Given the description of an element on the screen output the (x, y) to click on. 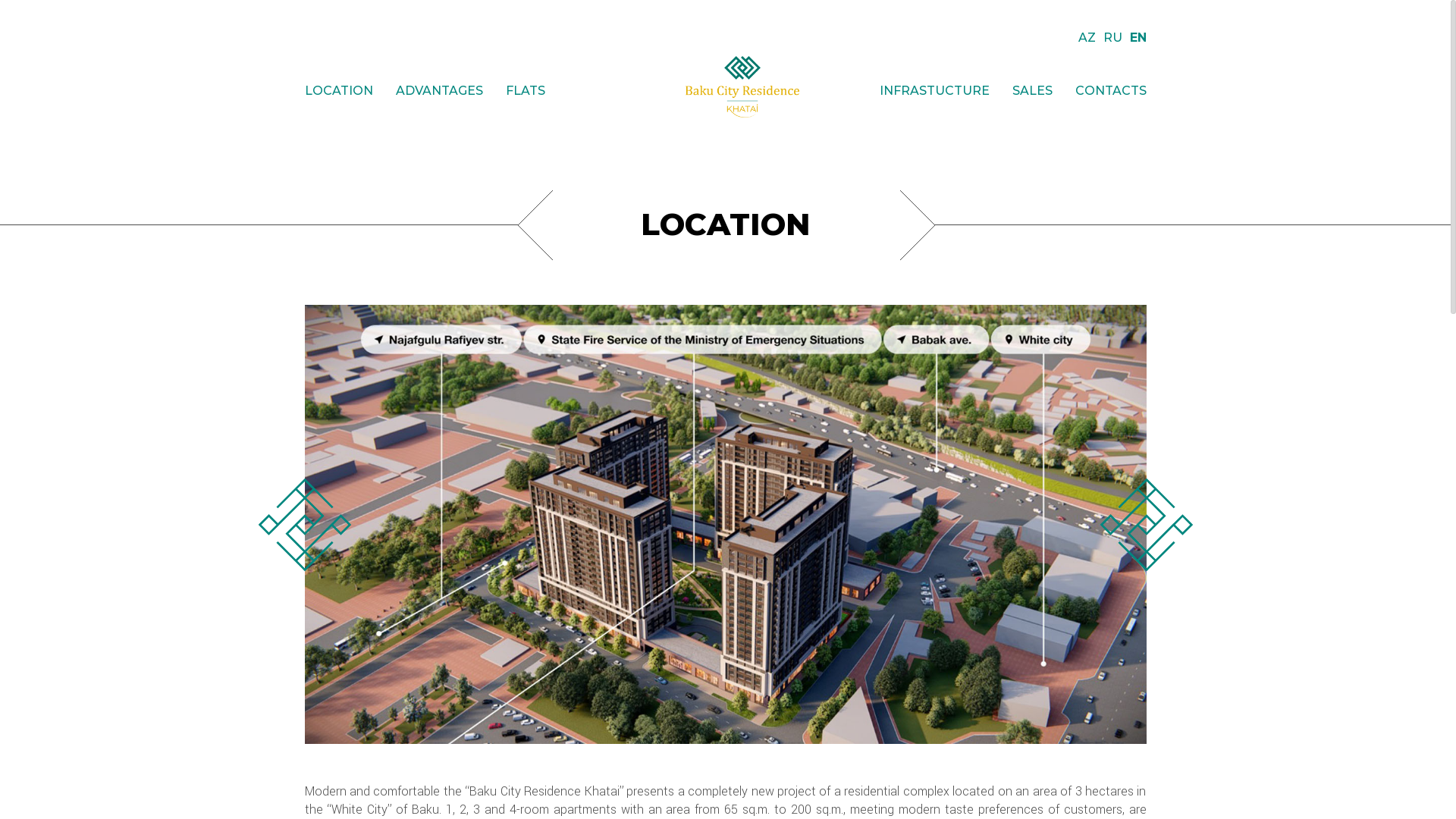
INFRASTUCTURE Element type: text (934, 90)
AZ Element type: text (1086, 37)
EN Element type: text (1137, 37)
CONTACTS Element type: text (1110, 90)
ADVANTAGES Element type: text (439, 90)
SALES Element type: text (1031, 90)
LOCATION Element type: text (338, 90)
FLATS Element type: text (524, 90)
RU Element type: text (1111, 37)
